Given the description of an element on the screen output the (x, y) to click on. 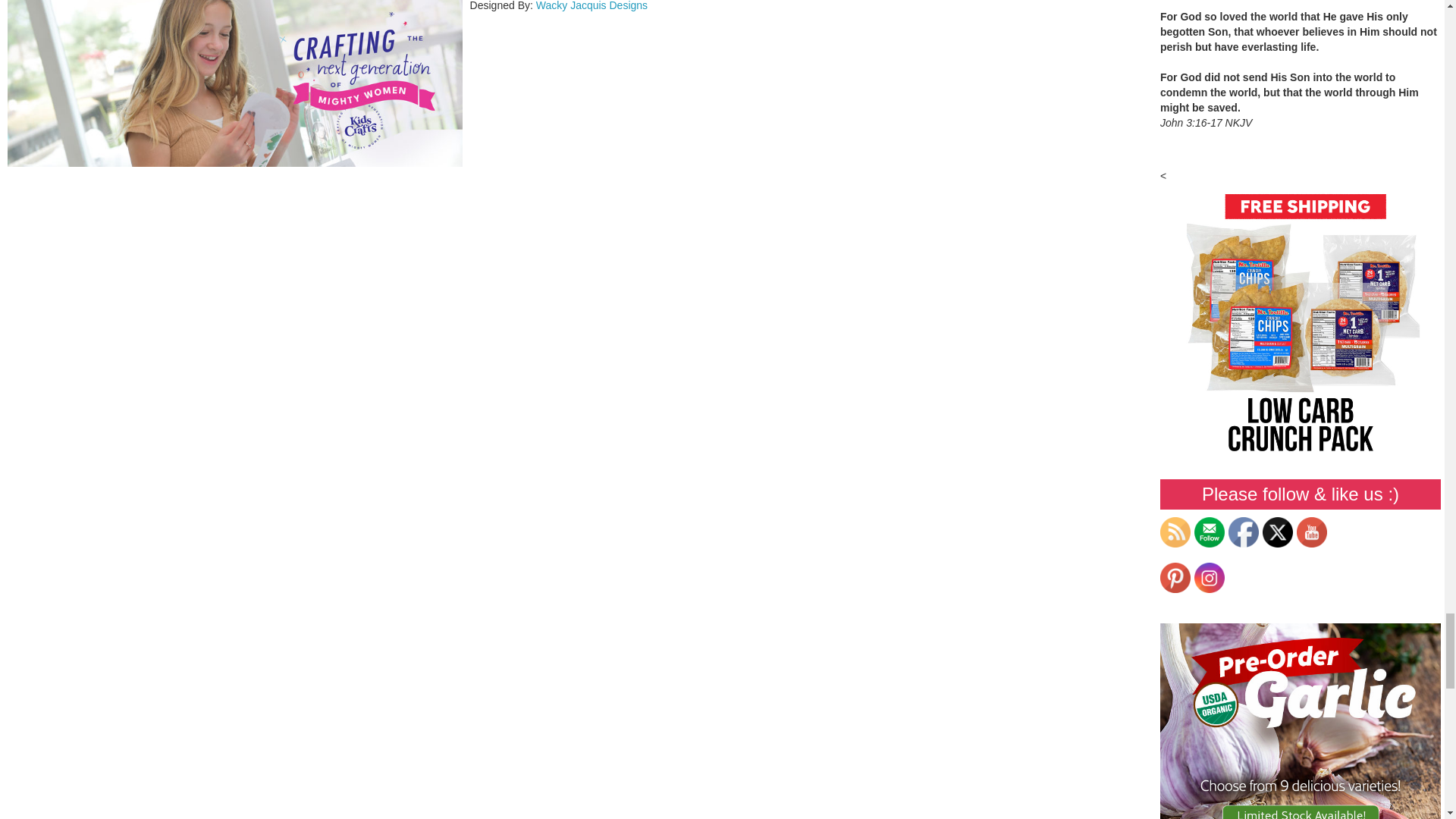
Follow by Email (1208, 531)
Facebook (1243, 531)
RSS (1175, 531)
